Given the description of an element on the screen output the (x, y) to click on. 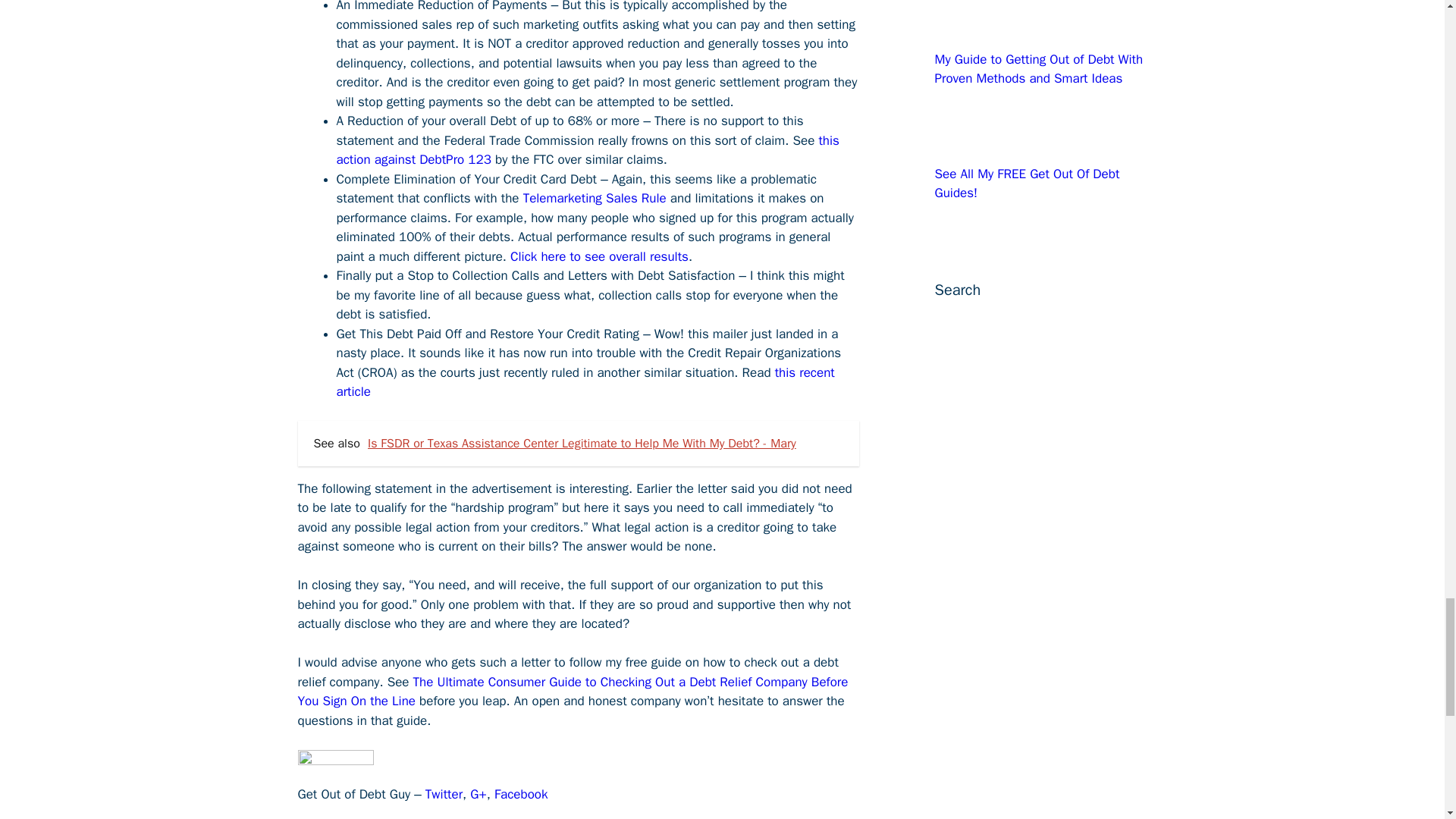
Click here to see overall results (599, 256)
Twitter (444, 794)
this recent article (585, 382)
Facebook (521, 794)
this action against DebtPro 123 (588, 150)
Telemarketing Sales Rule (594, 198)
